Given the description of an element on the screen output the (x, y) to click on. 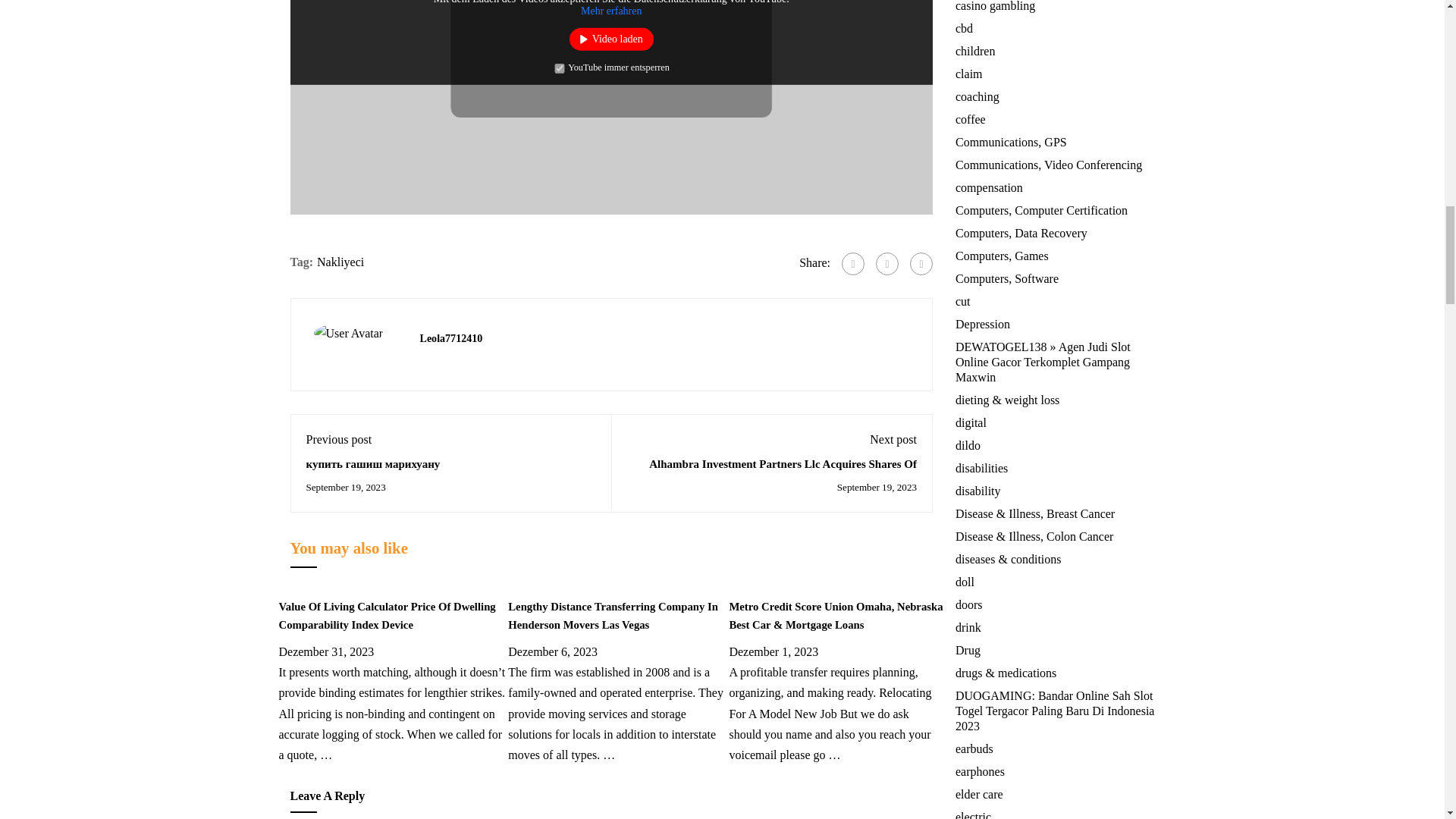
Twitter (887, 263)
Mehr erfahren (611, 10)
Facebook (852, 263)
Video laden (611, 38)
Pinterest (921, 263)
Nakliyeci (340, 261)
1 (559, 67)
